Given the description of an element on the screen output the (x, y) to click on. 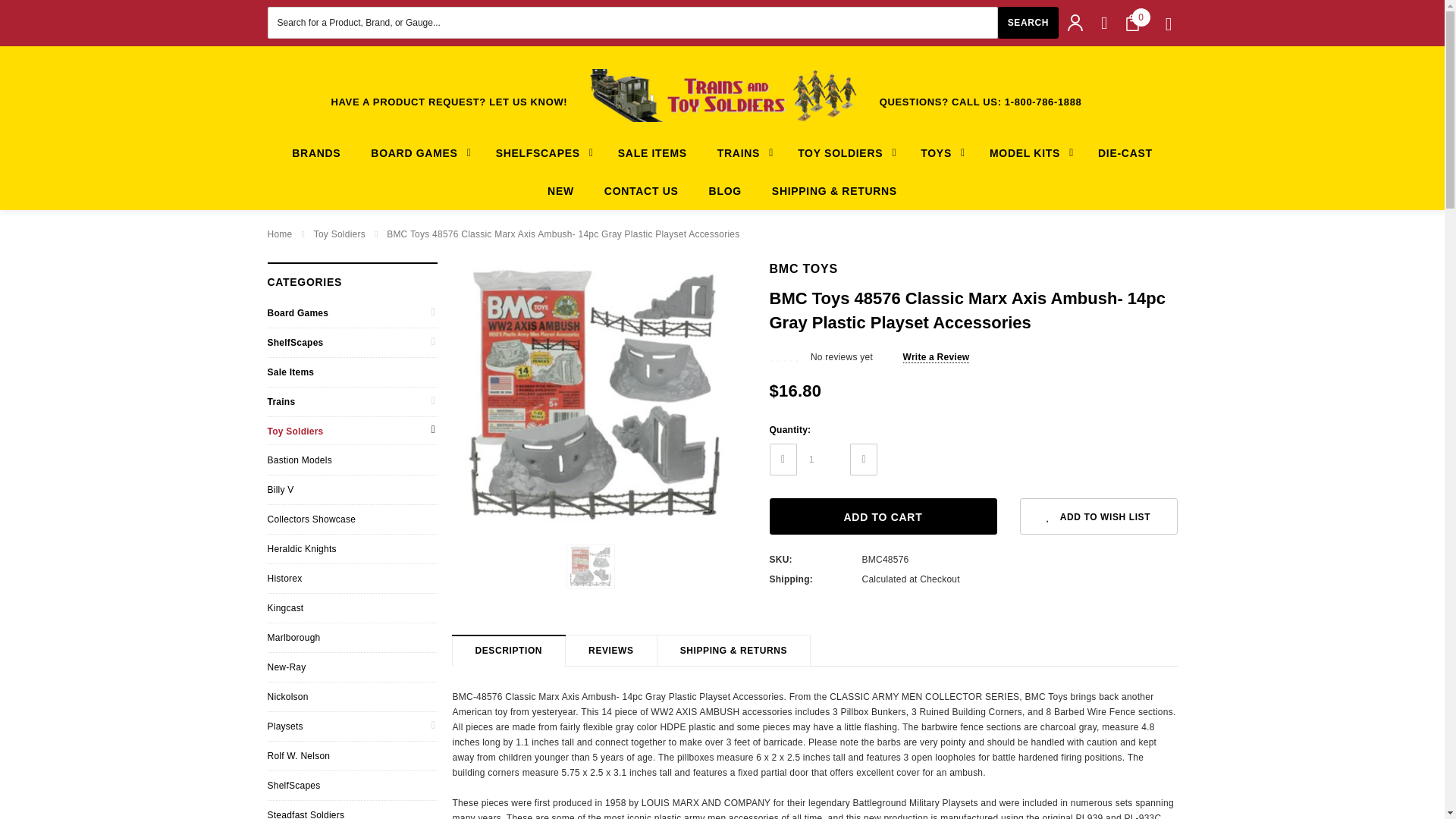
Trains And Toy Soldiers (722, 95)
My Account (1075, 22)
1 (823, 459)
Add to Cart (881, 515)
Search (1027, 22)
